Given the description of an element on the screen output the (x, y) to click on. 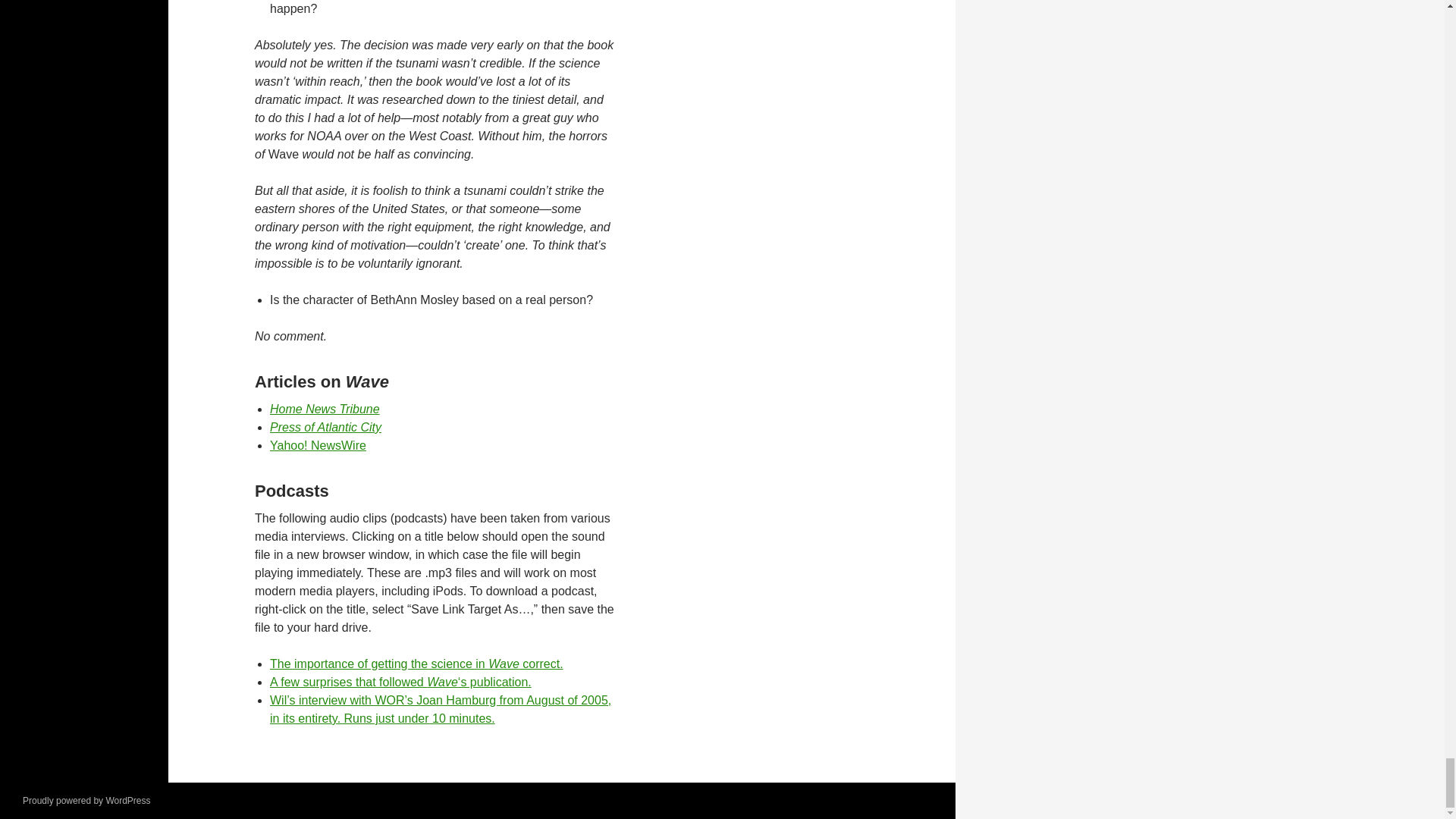
Press of Atlantic City (325, 427)
Home News Tribune (324, 408)
Yahoo! NewsWire (317, 445)
The importance of getting the science in Wave correct. (416, 663)
